Given the description of an element on the screen output the (x, y) to click on. 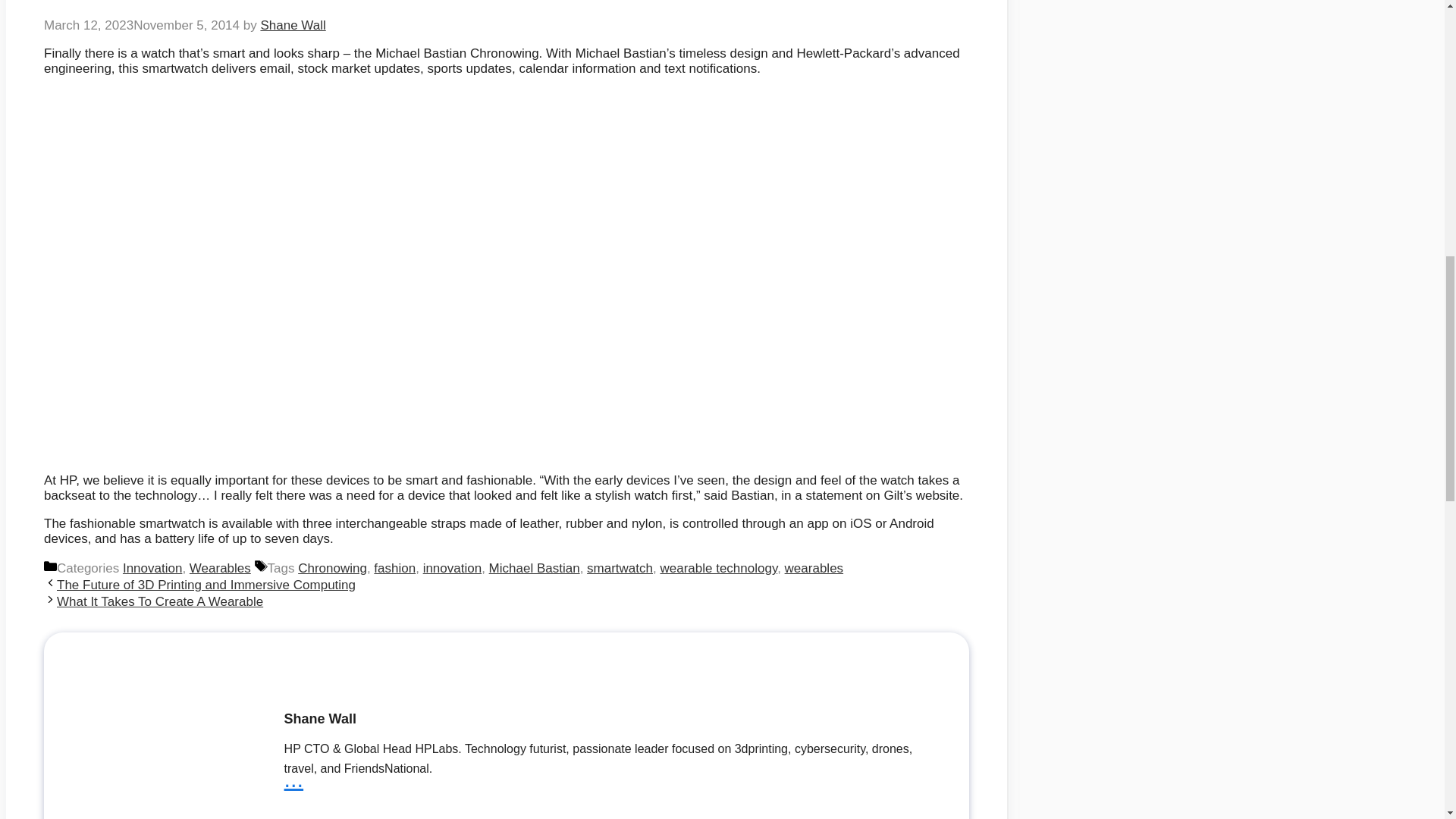
wearable technology (718, 568)
View all posts by Shane Wall (292, 25)
wearables (814, 568)
Innovation (152, 568)
The Future of 3D Printing and Immersive Computing (205, 585)
Shane Wall (292, 25)
Michael Bastian (534, 568)
innovation (452, 568)
What It Takes To Create A Wearable (159, 601)
Wearables (219, 568)
smartwatch (619, 568)
fashion (394, 568)
Chronowing (332, 568)
